Given the description of an element on the screen output the (x, y) to click on. 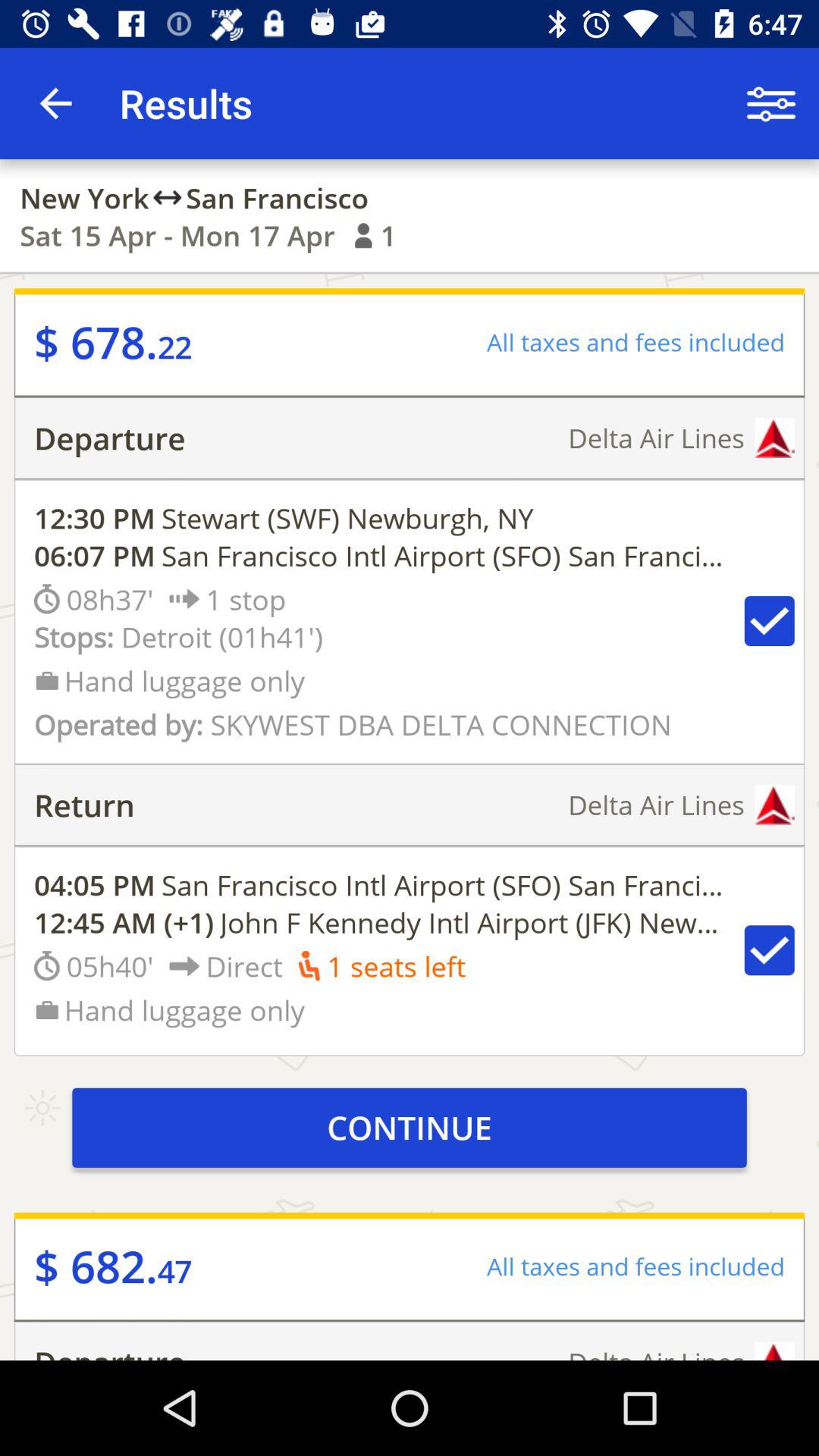
open item next to the results item (771, 103)
